Given the description of an element on the screen output the (x, y) to click on. 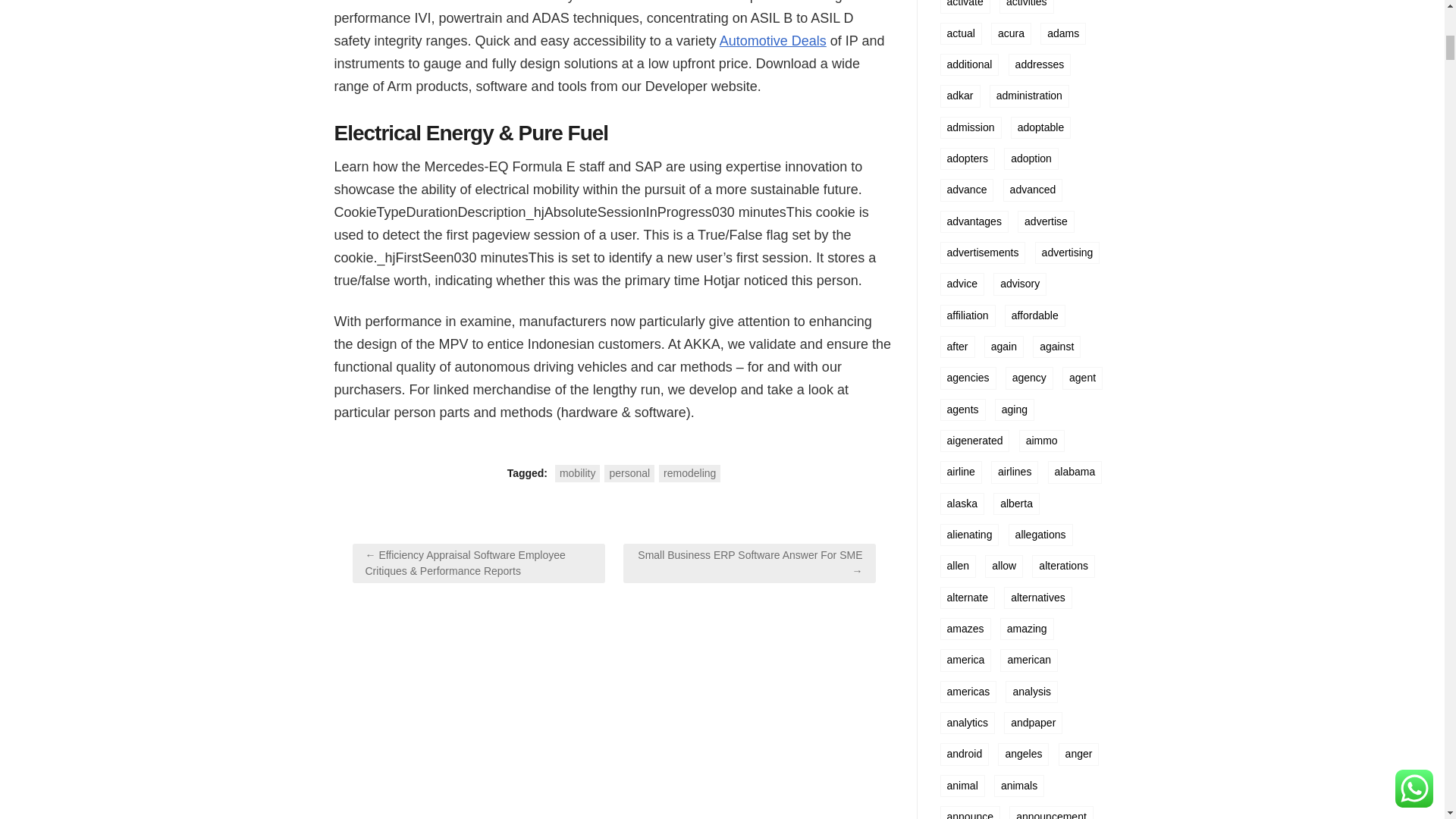
personal (628, 473)
mobility (576, 473)
Automotive Deals (773, 40)
activate (965, 6)
remodeling (689, 473)
